Given the description of an element on the screen output the (x, y) to click on. 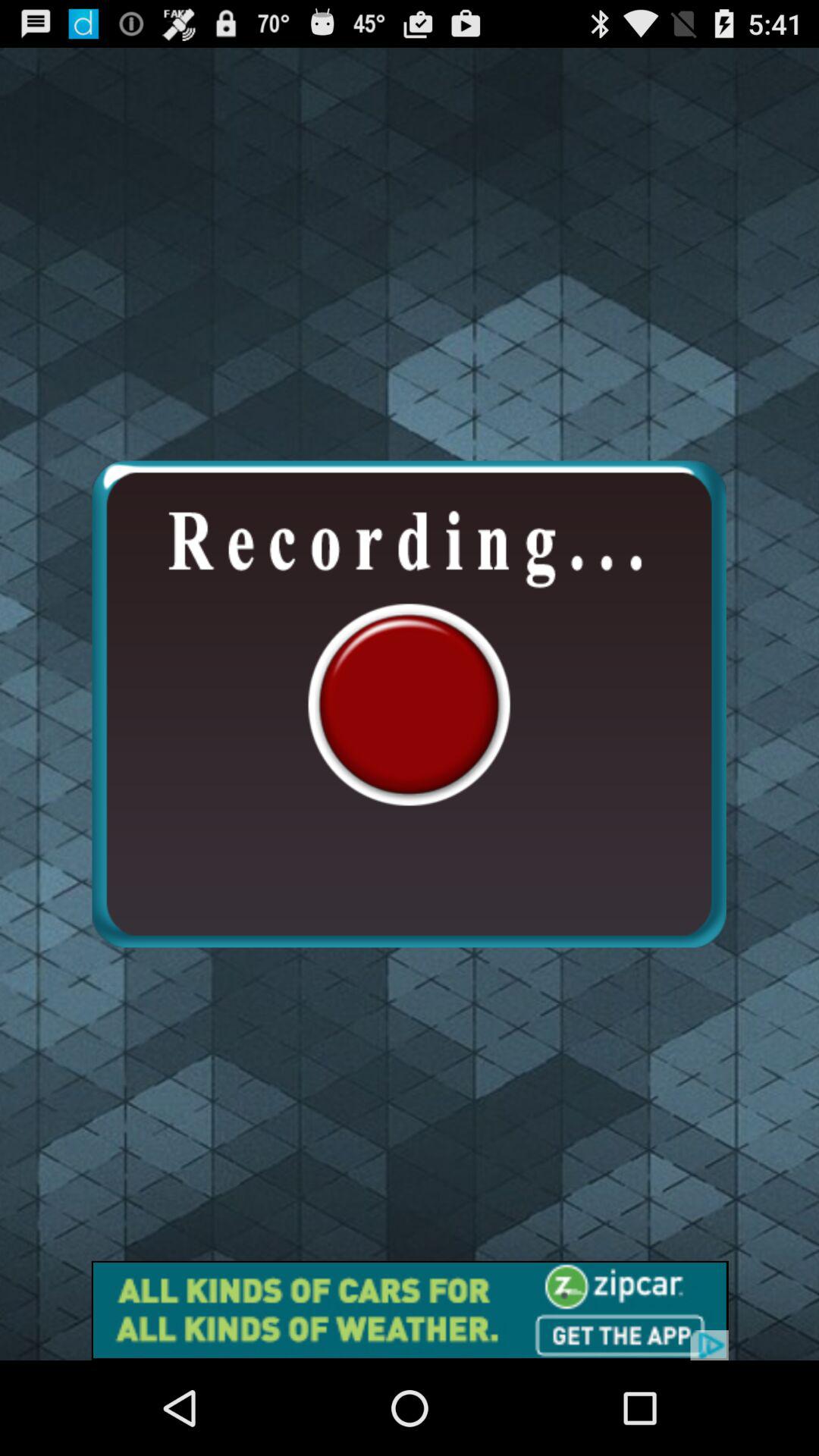
stop recording (409, 703)
